Given the description of an element on the screen output the (x, y) to click on. 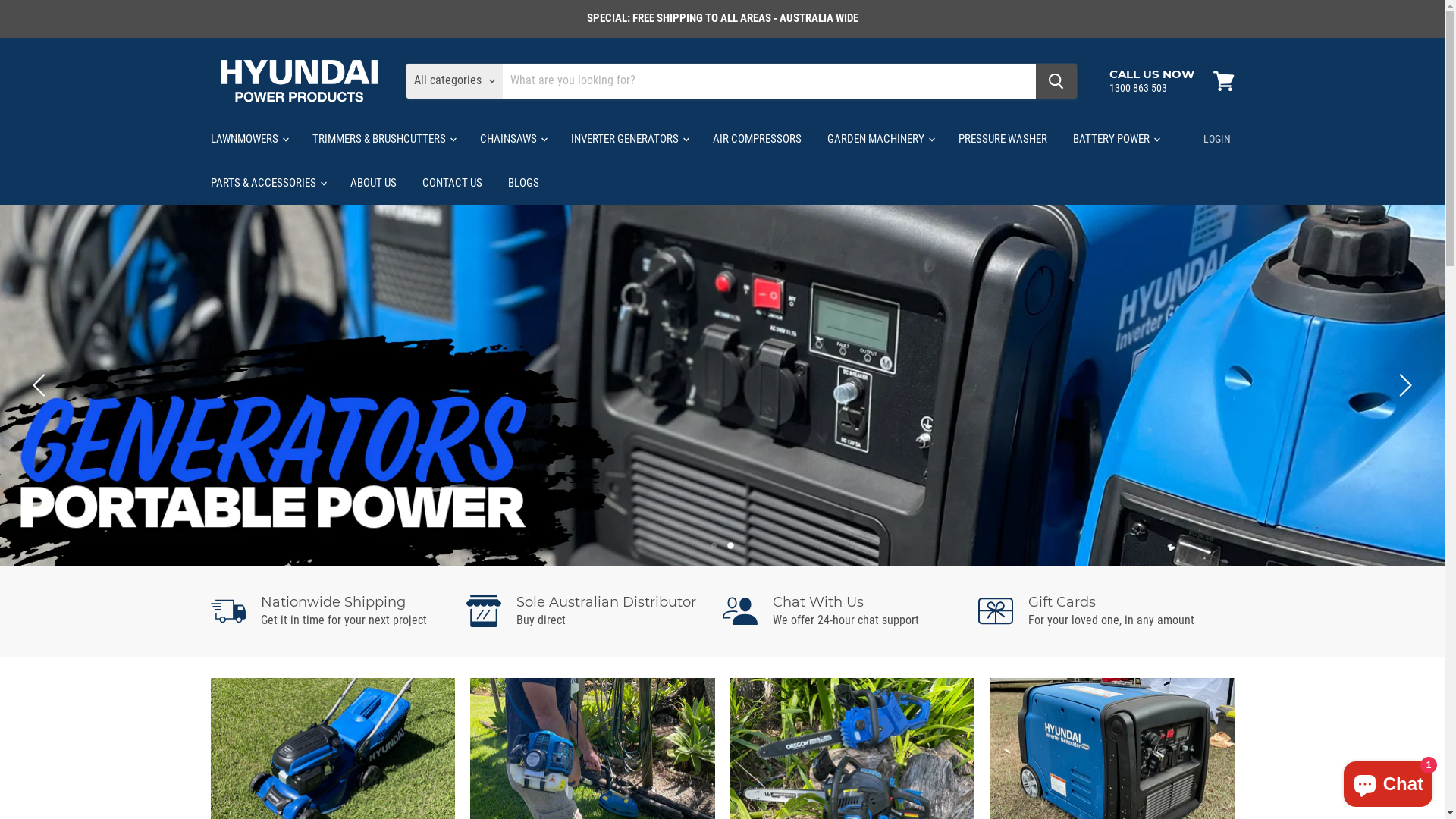
ABOUT US Element type: text (372, 182)
BLOGS Element type: text (522, 182)
PARTS & ACCESSORIES Element type: text (266, 182)
CHAINSAWS Element type: text (512, 138)
GARDEN MACHINERY Element type: text (879, 138)
TRIMMERS & BRUSHCUTTERS Element type: text (382, 138)
AIR COMPRESSORS Element type: text (756, 138)
Shopify online store chat Element type: hover (1388, 780)
PRESSURE WASHER Element type: text (1001, 138)
LAWNMOWERS Element type: text (247, 138)
CONTACT US Element type: text (452, 182)
BATTERY POWER Element type: text (1115, 138)
View cart Element type: text (1223, 80)
INVERTER GENERATORS Element type: text (628, 138)
LOGIN Element type: text (1216, 138)
